Given the description of an element on the screen output the (x, y) to click on. 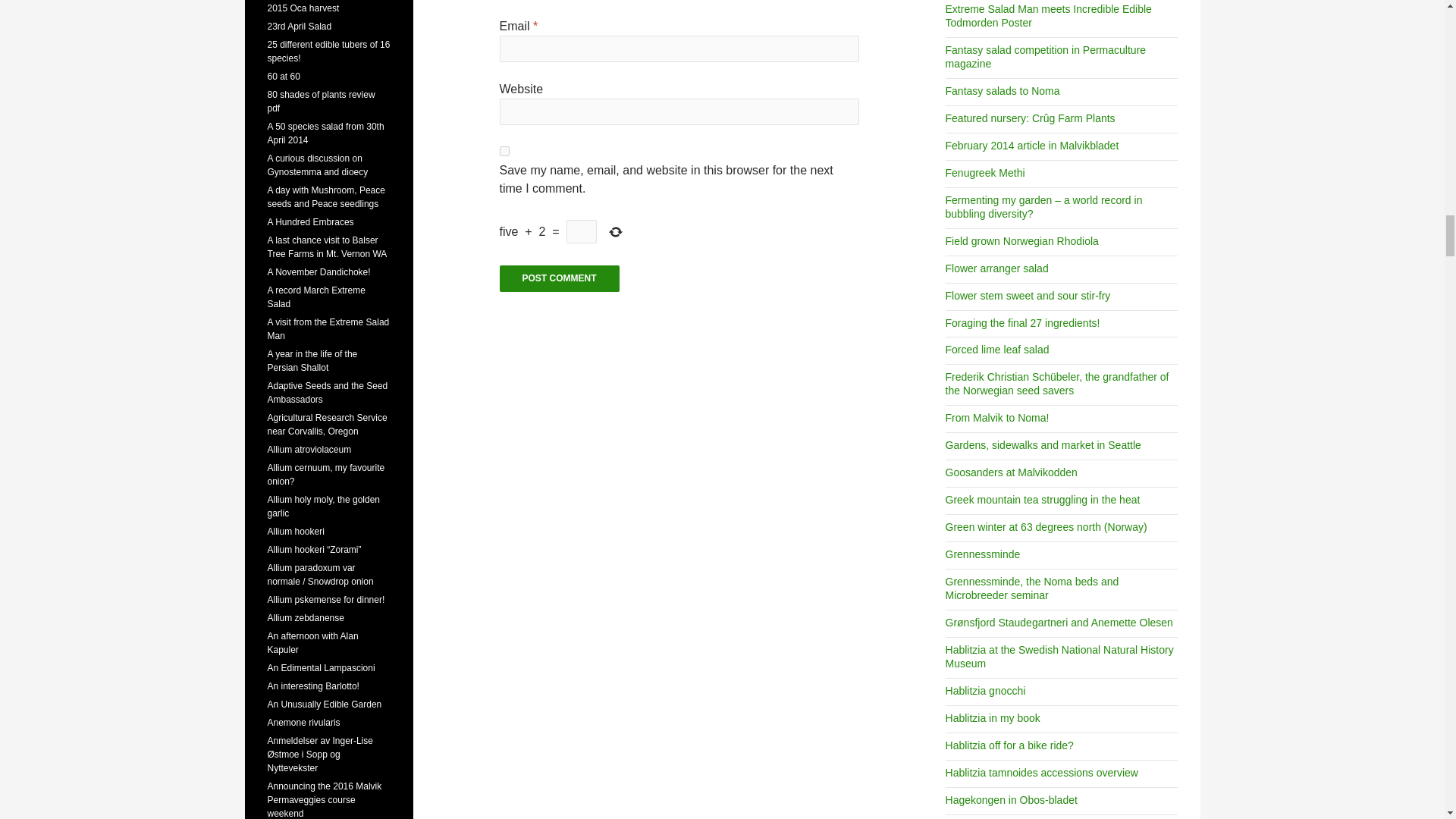
yes (504, 151)
Post Comment (559, 278)
